Given the description of an element on the screen output the (x, y) to click on. 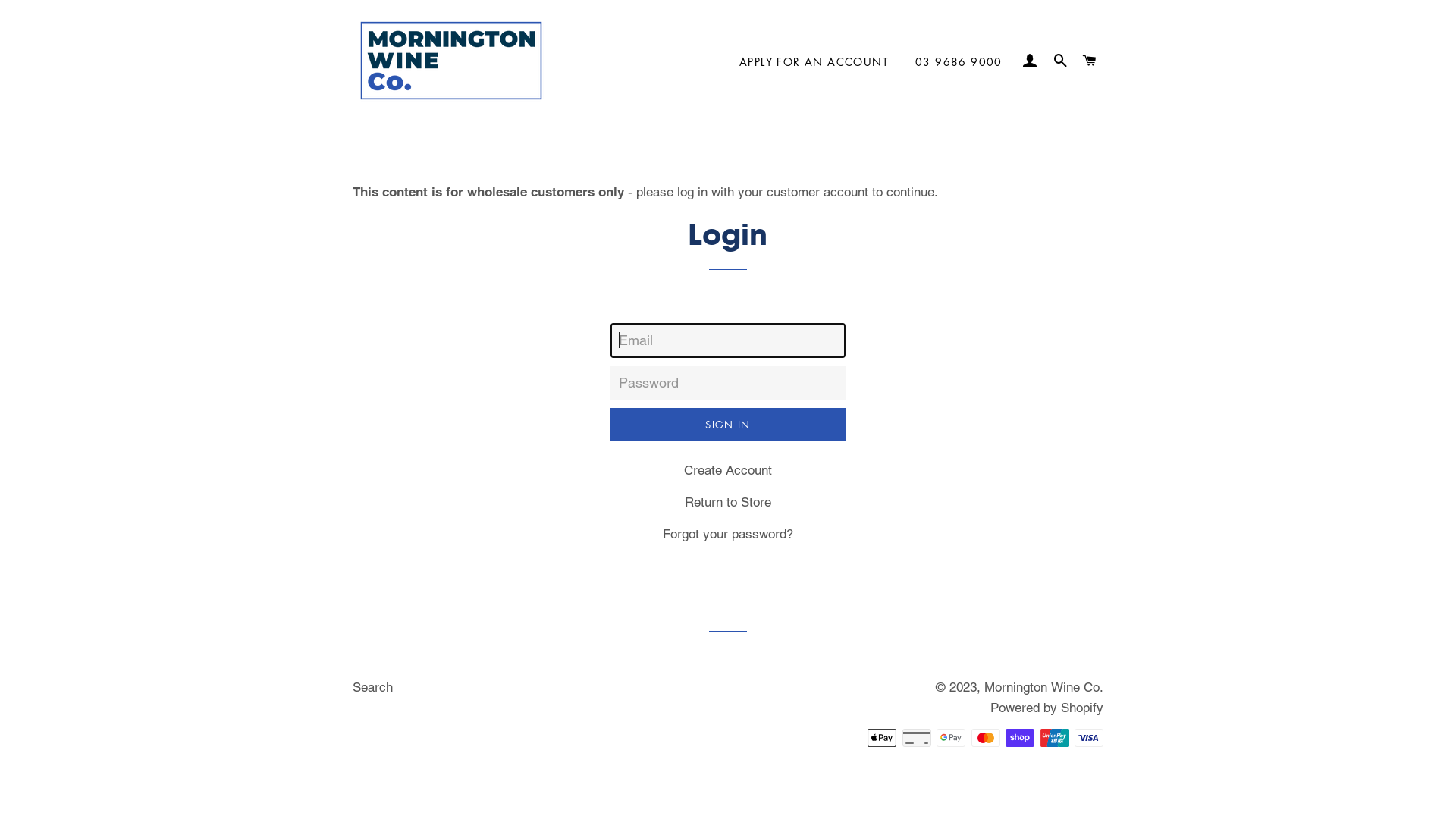
CART Element type: text (1090, 60)
Forgot your password? Element type: text (727, 533)
Mornington Wine Co. Element type: text (1043, 686)
SEARCH Element type: text (1060, 60)
Powered by Shopify Element type: text (1046, 707)
APPLY FOR AN ACCOUNT Element type: text (814, 61)
Create Account Element type: text (727, 469)
Return to Store Element type: text (727, 501)
Sign In Element type: text (727, 424)
Search Element type: text (372, 686)
03 9686 9000 Element type: text (958, 61)
LOG IN Element type: text (1030, 60)
